Given the description of an element on the screen output the (x, y) to click on. 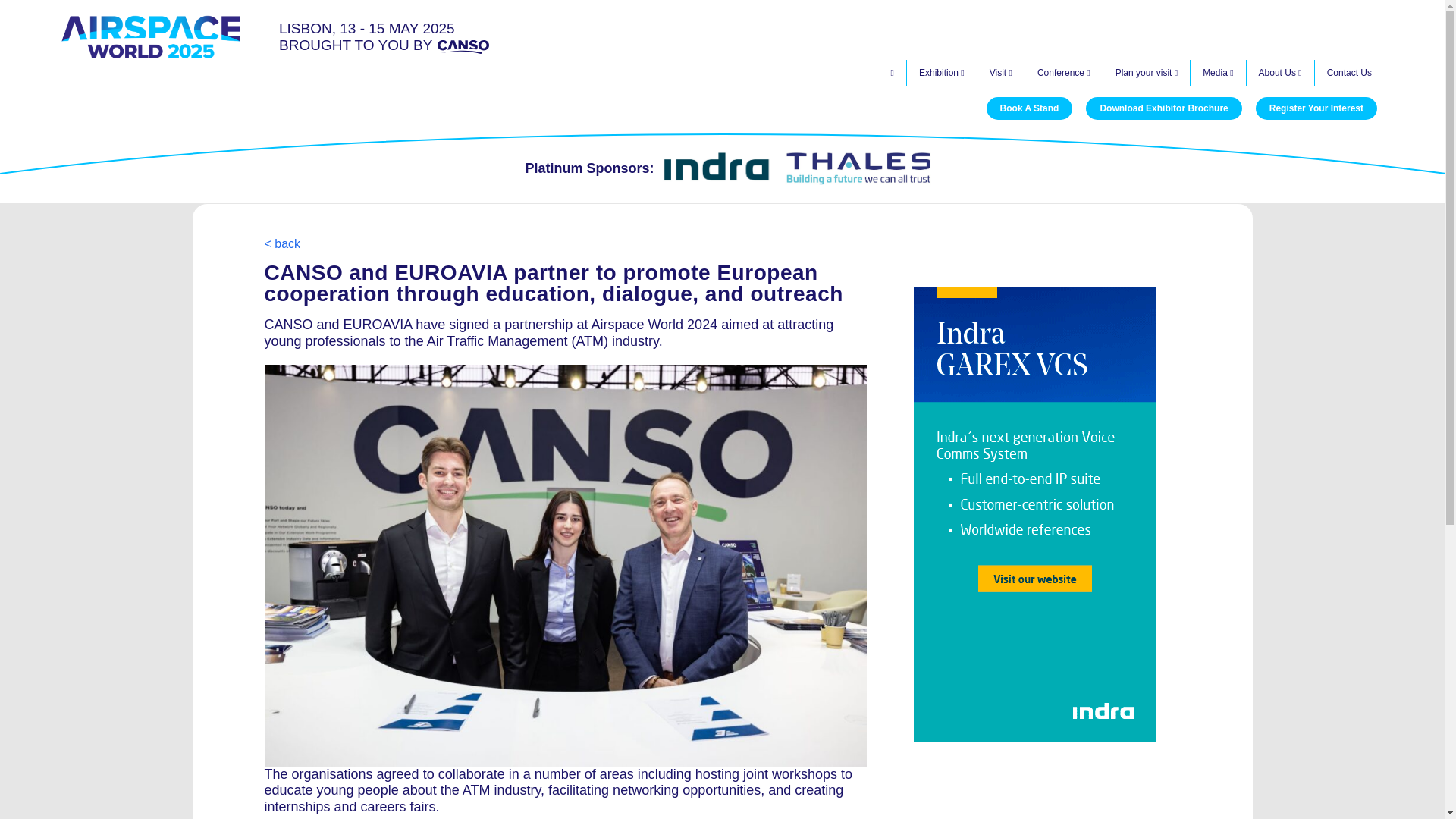
Conference (1064, 72)
About Us (1280, 72)
Visit (1000, 72)
Exhibition (941, 72)
Download Exhibitor Brochure (1163, 108)
Plan your visit (1147, 72)
Register Your Interest (1316, 108)
Media (1218, 72)
Book A Stand (1030, 108)
Contact Us (1349, 72)
